Given the description of an element on the screen output the (x, y) to click on. 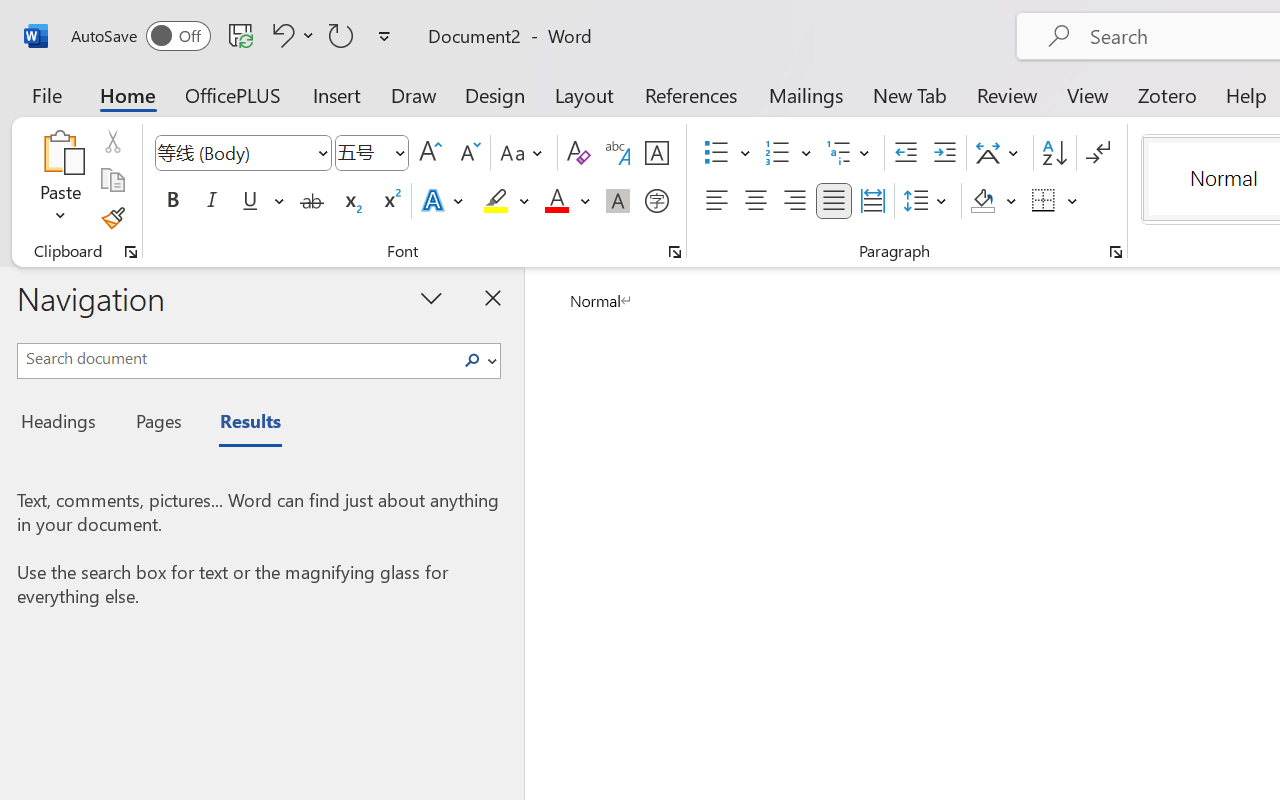
Line and Paragraph Spacing (927, 201)
Decrease Indent (906, 153)
Grow Font (430, 153)
Save (241, 35)
Shrink Font (468, 153)
Phonetic Guide... (618, 153)
Search (471, 360)
Results (240, 424)
